Given the description of an element on the screen output the (x, y) to click on. 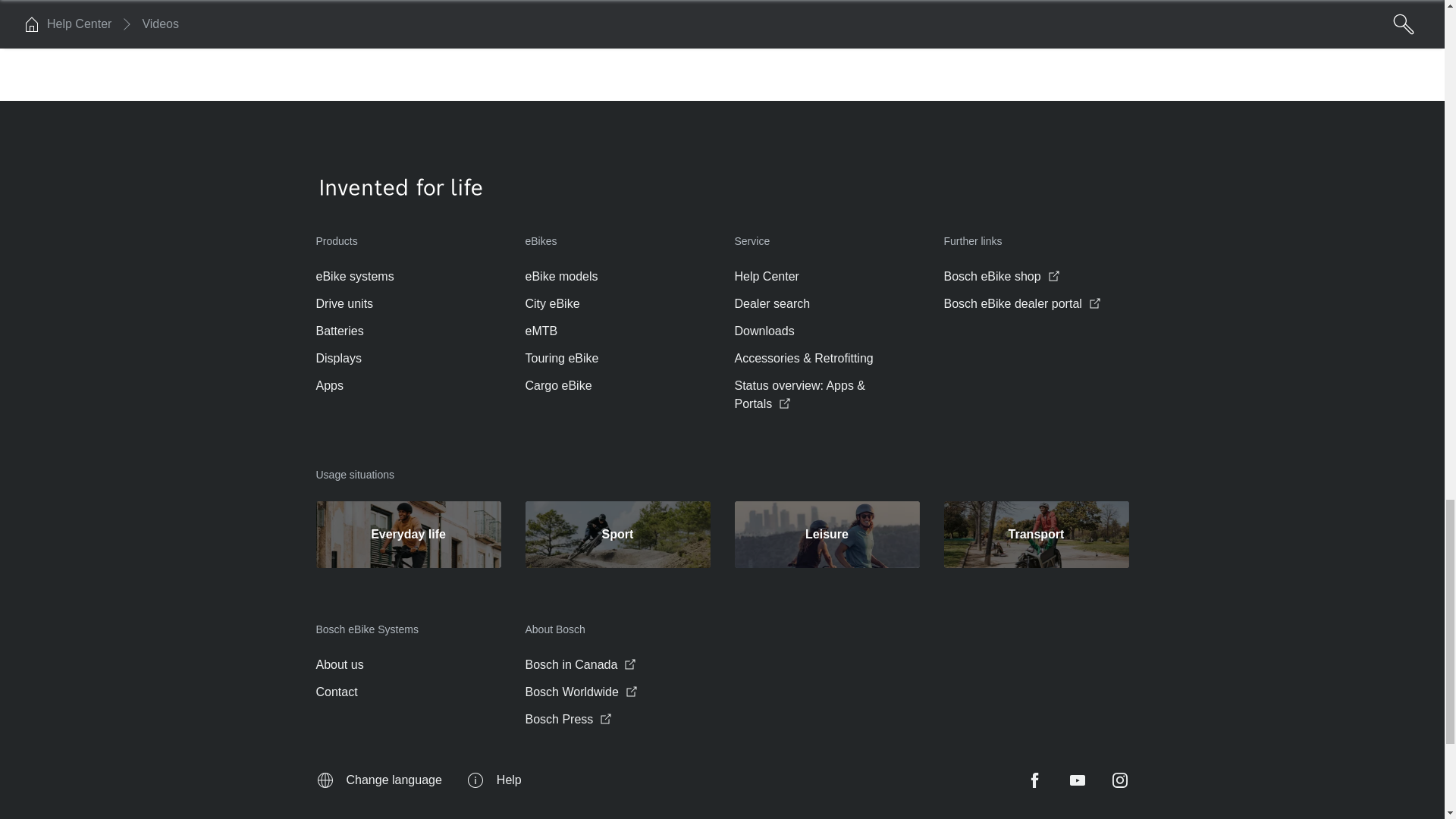
Drive units (343, 303)
eBike systems (354, 276)
Displays (338, 358)
Batteries (338, 331)
Bosch eBike on Facebook (1034, 780)
eBike models (560, 276)
Apps (328, 385)
Bosch eBike on YouTube (1076, 780)
Instagram (1118, 780)
